Given the description of an element on the screen output the (x, y) to click on. 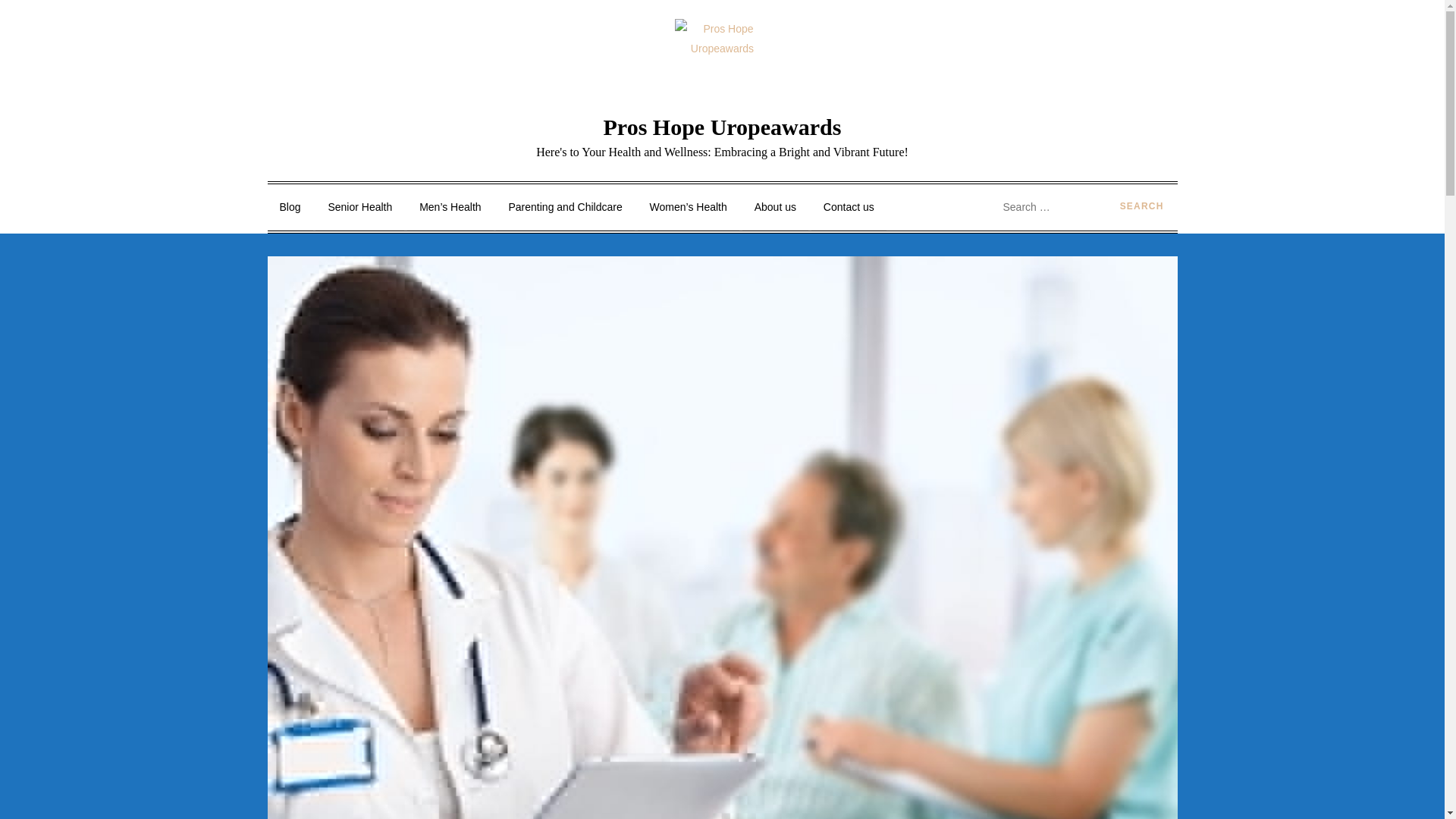
Pros Hope Uropeawards (722, 126)
Blog (289, 207)
Contact us (848, 207)
Search (1141, 207)
Search (1141, 207)
Parenting and Childcare (564, 207)
Search (1141, 207)
Senior Health (359, 207)
About us (775, 207)
